Given the description of an element on the screen output the (x, y) to click on. 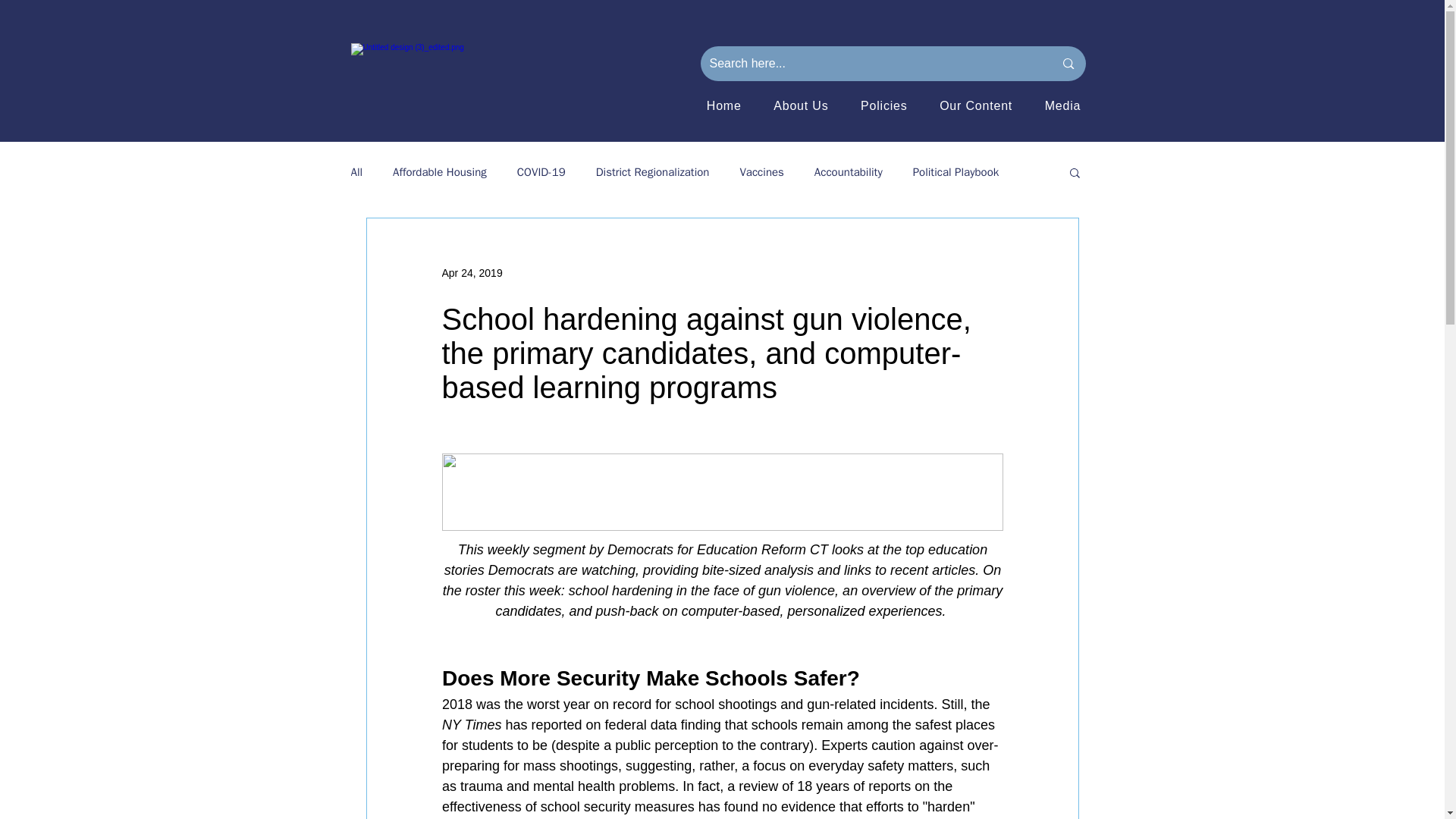
Vaccines (761, 172)
COVID-19 (541, 172)
Accountability (847, 172)
Affordable Housing (439, 172)
Political Playbook (955, 172)
District Regionalization (652, 172)
Apr 24, 2019 (471, 272)
Policies (883, 105)
Home (723, 105)
